Given the description of an element on the screen output the (x, y) to click on. 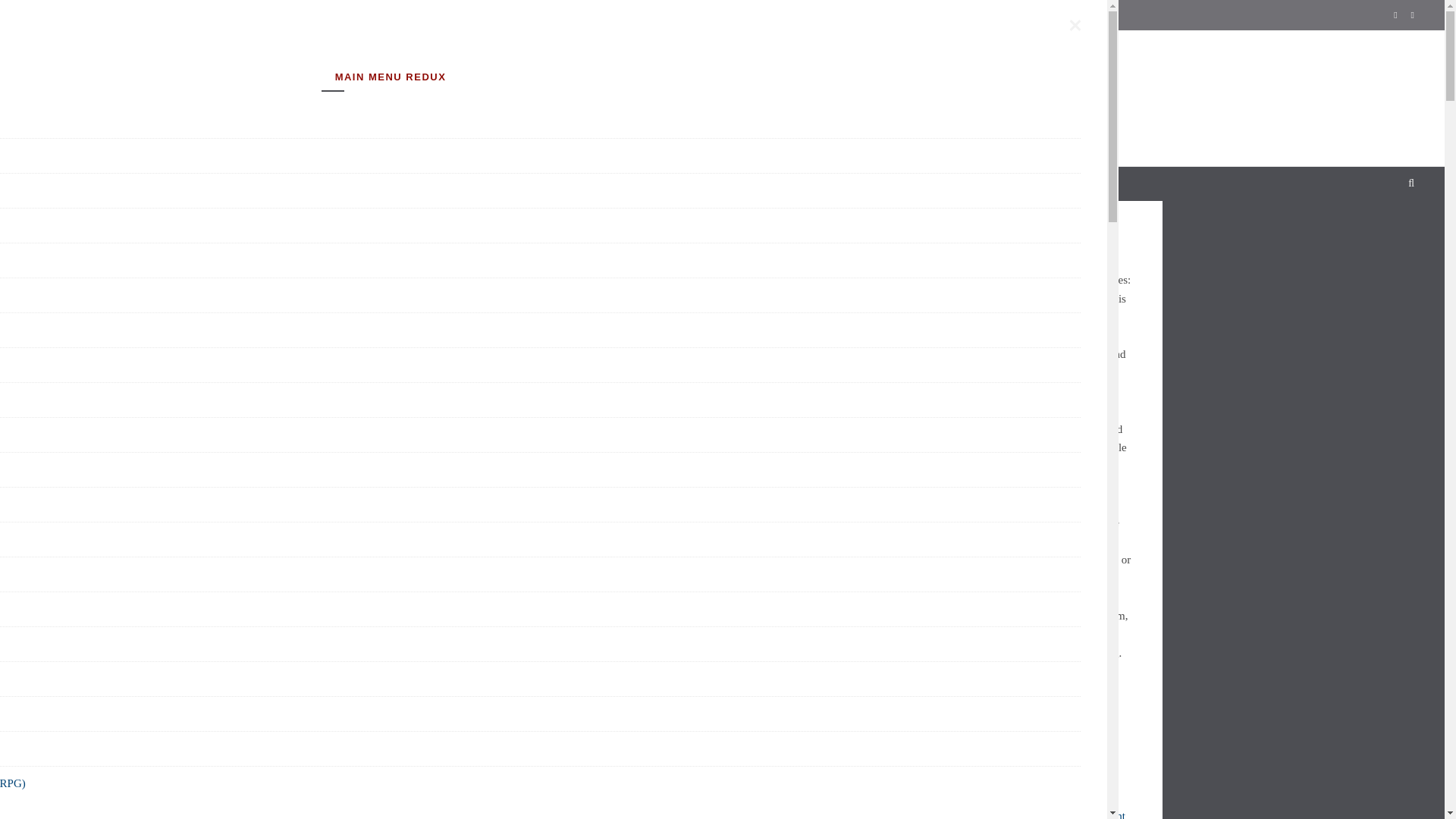
GURPS (658, 183)
HOME (456, 183)
Games Diner (721, 94)
RECOMMENDED (550, 183)
